Given the description of an element on the screen output the (x, y) to click on. 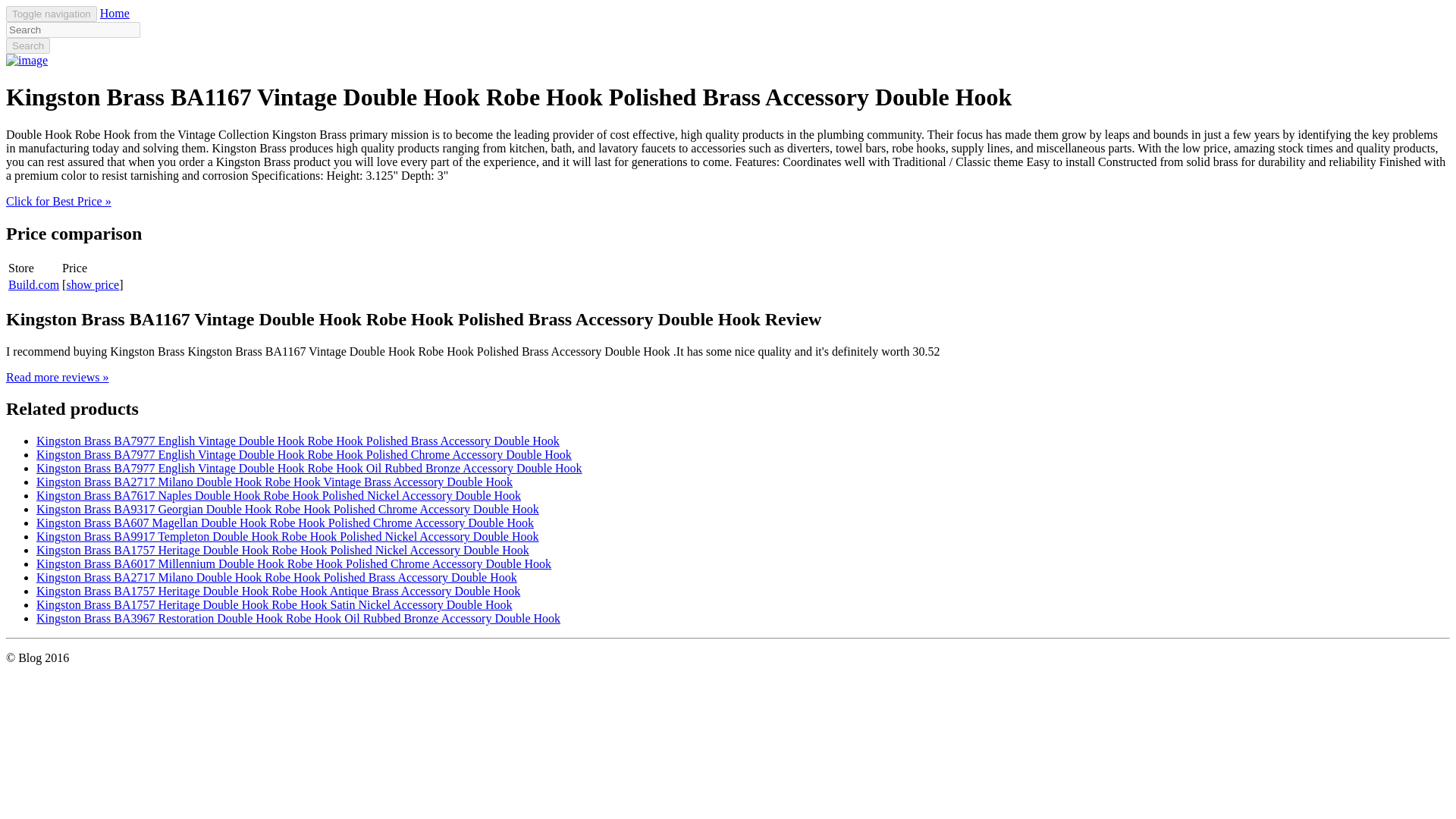
Toggle navigation (51, 13)
show price (92, 284)
